Given the description of an element on the screen output the (x, y) to click on. 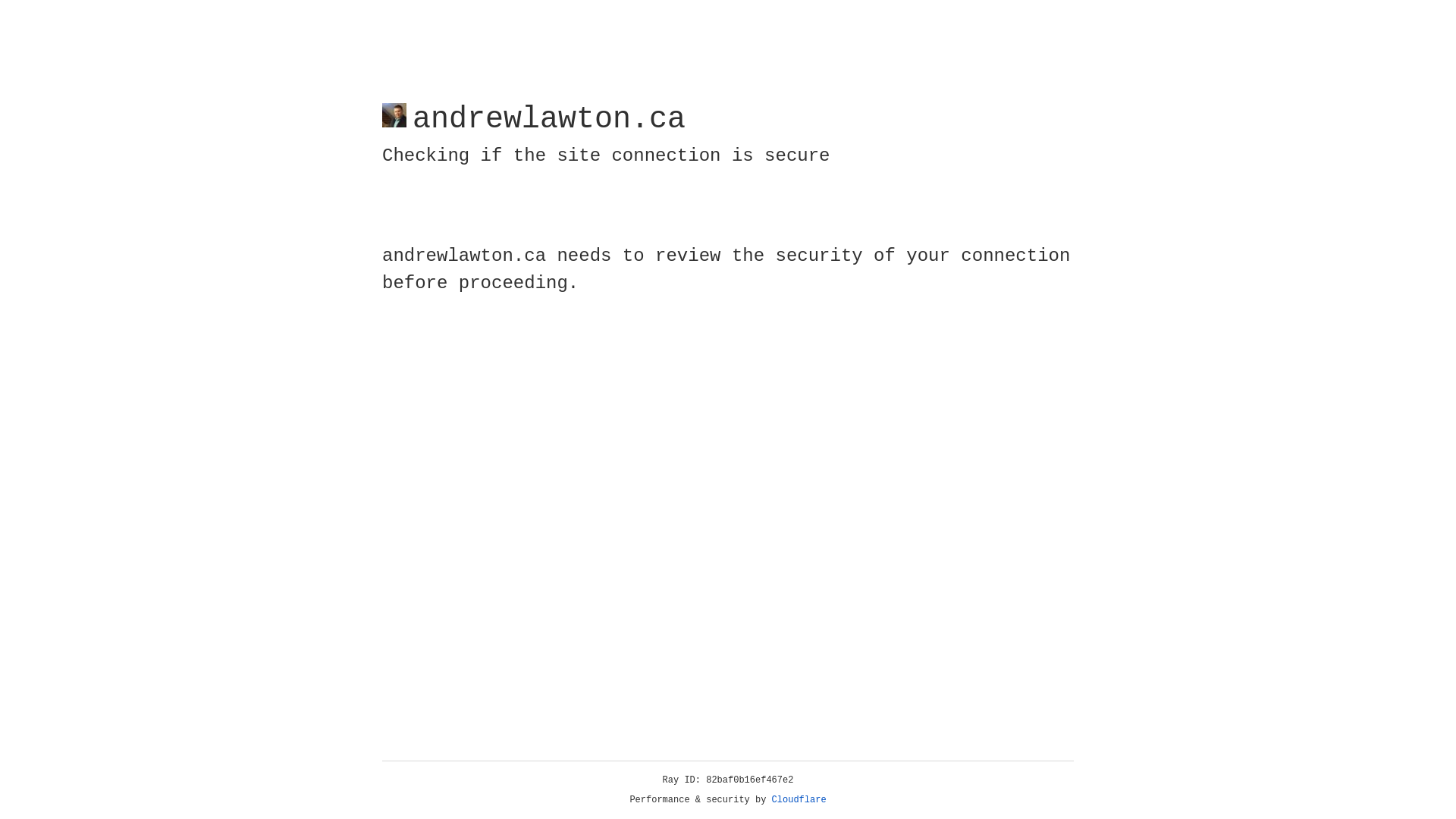
Cloudflare Element type: text (798, 799)
